Given the description of an element on the screen output the (x, y) to click on. 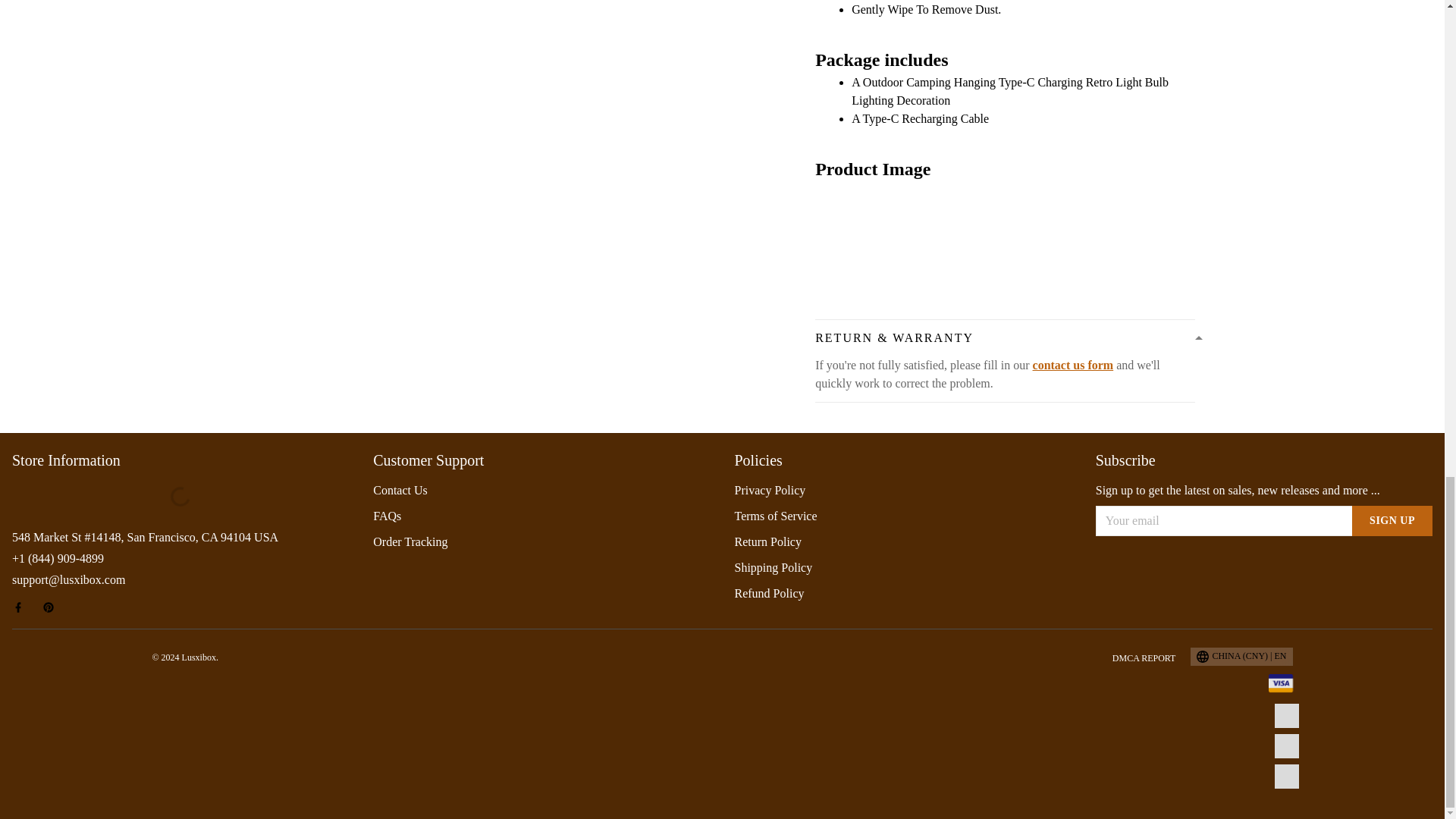
contact us form (1072, 364)
facebook (22, 607)
pinterest (53, 607)
